Given the description of an element on the screen output the (x, y) to click on. 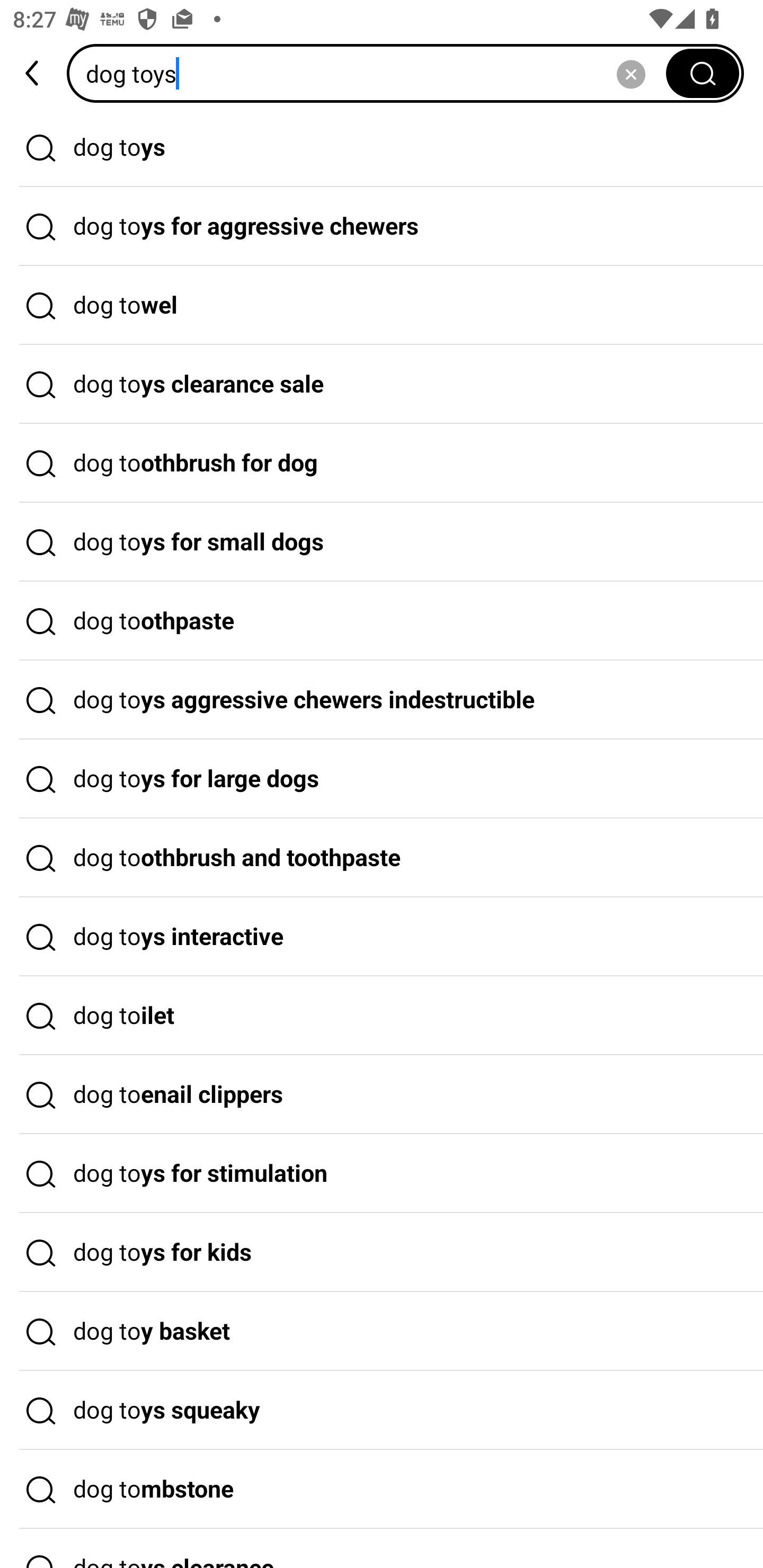
back (33, 72)
dog toys (372, 73)
Delete search history (630, 73)
dog toys (381, 147)
dog toys for aggressive chewers (381, 226)
dog towel (381, 305)
dog toys clearance sale (381, 383)
dog toothbrush for dog (381, 463)
dog toys for small dogs (381, 542)
dog toothpaste (381, 620)
dog toys aggressive chewers indestructible (381, 700)
dog toys for large dogs (381, 779)
dog toothbrush and toothpaste (381, 857)
dog toys interactive (381, 936)
dog toilet (381, 1015)
dog toenail clippers (381, 1094)
dog toys for stimulation (381, 1173)
dog toys for kids (381, 1252)
dog toy basket (381, 1331)
dog toys squeaky (381, 1410)
dog tombstone (381, 1489)
